Given the description of an element on the screen output the (x, y) to click on. 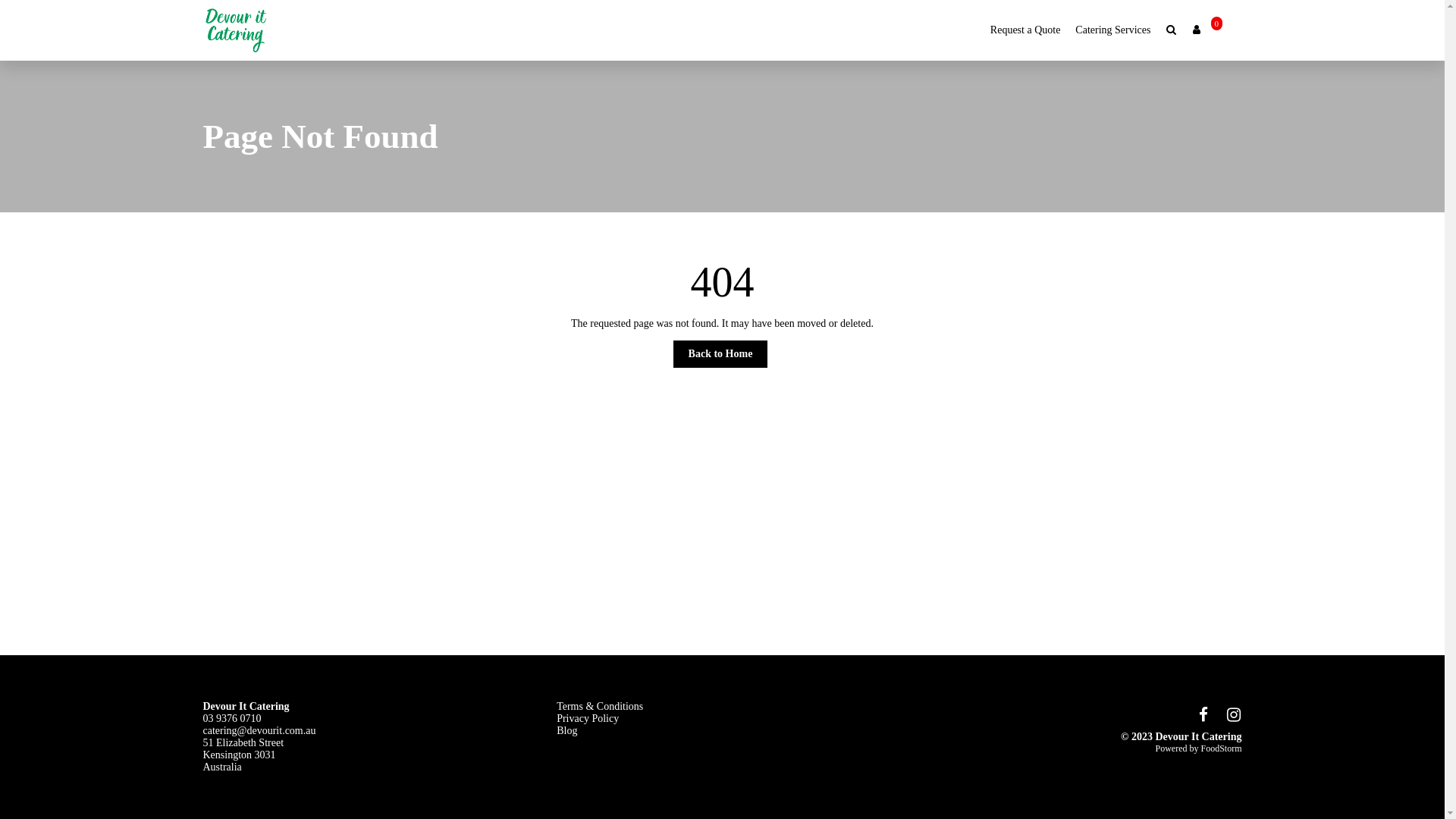
Search Element type: hover (1171, 30)
Privacy Policy Element type: text (587, 718)
Blog Element type: text (566, 730)
catering@devourit.com.au Element type: text (259, 730)
cart summary
0
0 items in cart Element type: text (1223, 30)
03 9376 0710 Element type: text (232, 718)
Catering Services Element type: text (1112, 30)
Back to Home Element type: text (720, 353)
Sign In Element type: hover (1196, 30)
Powered by FoodStorm Element type: text (1076, 748)
Terms & Conditions Element type: text (599, 706)
Request a Quote Element type: text (1025, 30)
